Given the description of an element on the screen output the (x, y) to click on. 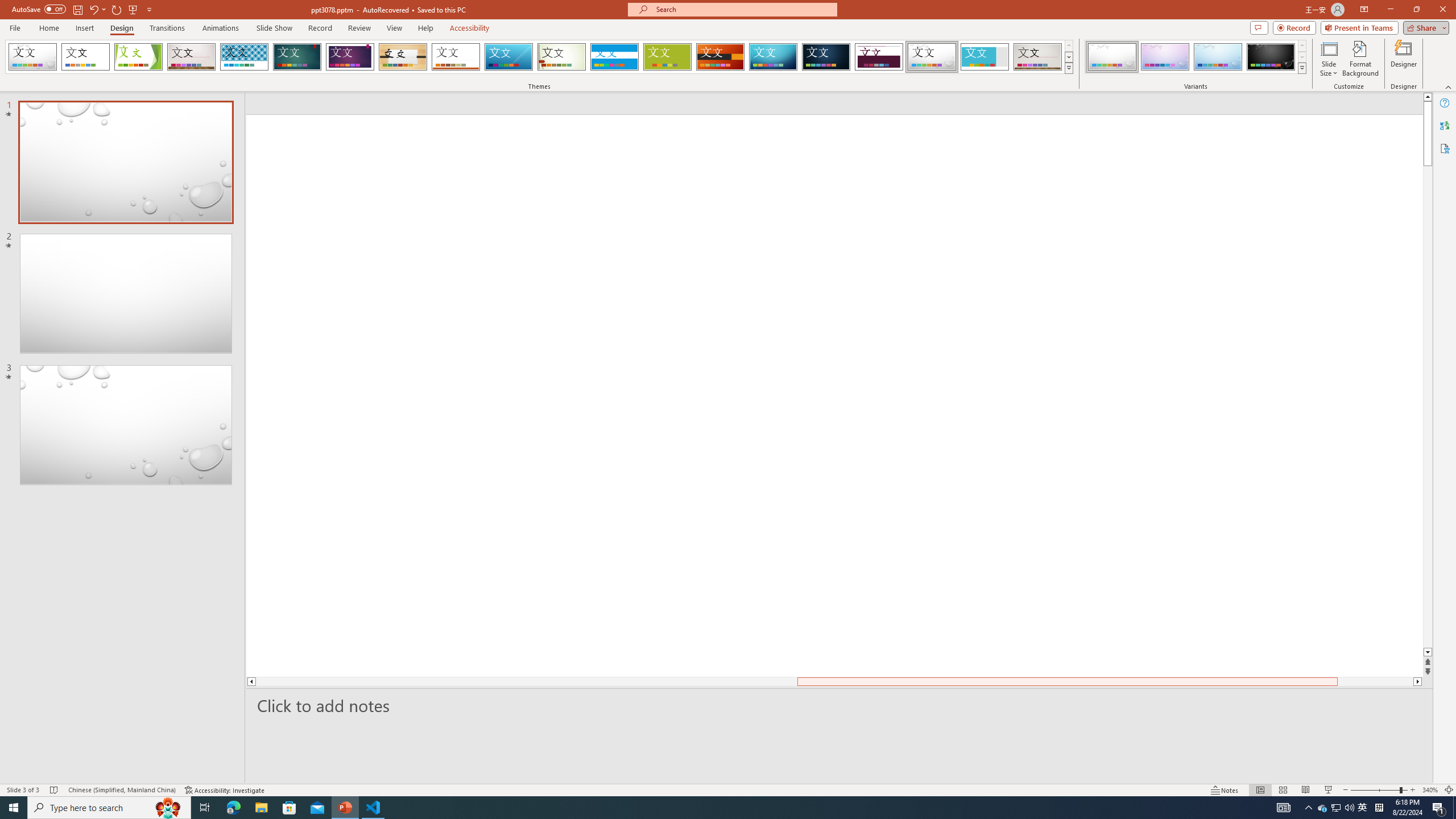
An abstract genetic concept (761, 395)
Wisp (561, 56)
Variants (1301, 67)
Facet (138, 56)
Droplet Variant 1 (1112, 56)
Slice (508, 56)
